Given the description of an element on the screen output the (x, y) to click on. 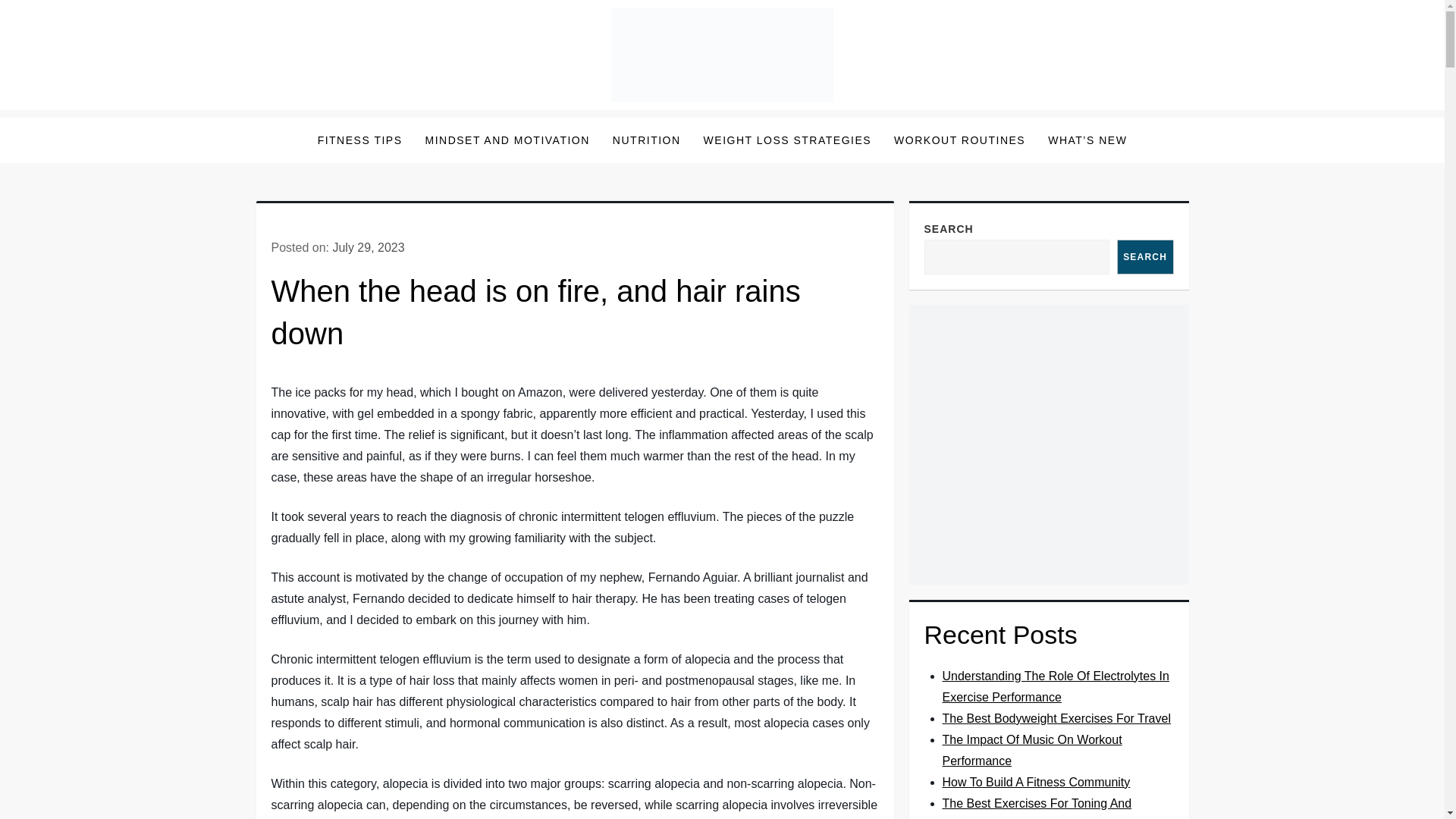
NUTRITION (647, 139)
How To Fitness (359, 120)
How To Build A Fitness Community (1035, 781)
FITNESS TIPS (359, 139)
July 29, 2023 (367, 246)
The Best Exercises For Toning And Sculpting (1036, 807)
The Best Bodyweight Exercises For Travel (1056, 717)
The Impact Of Music On Workout Performance (1031, 750)
WORKOUT ROUTINES (959, 139)
SEARCH (1144, 256)
WEIGHT LOSS STRATEGIES (788, 139)
MINDSET AND MOTIVATION (507, 139)
